Given the description of an element on the screen output the (x, y) to click on. 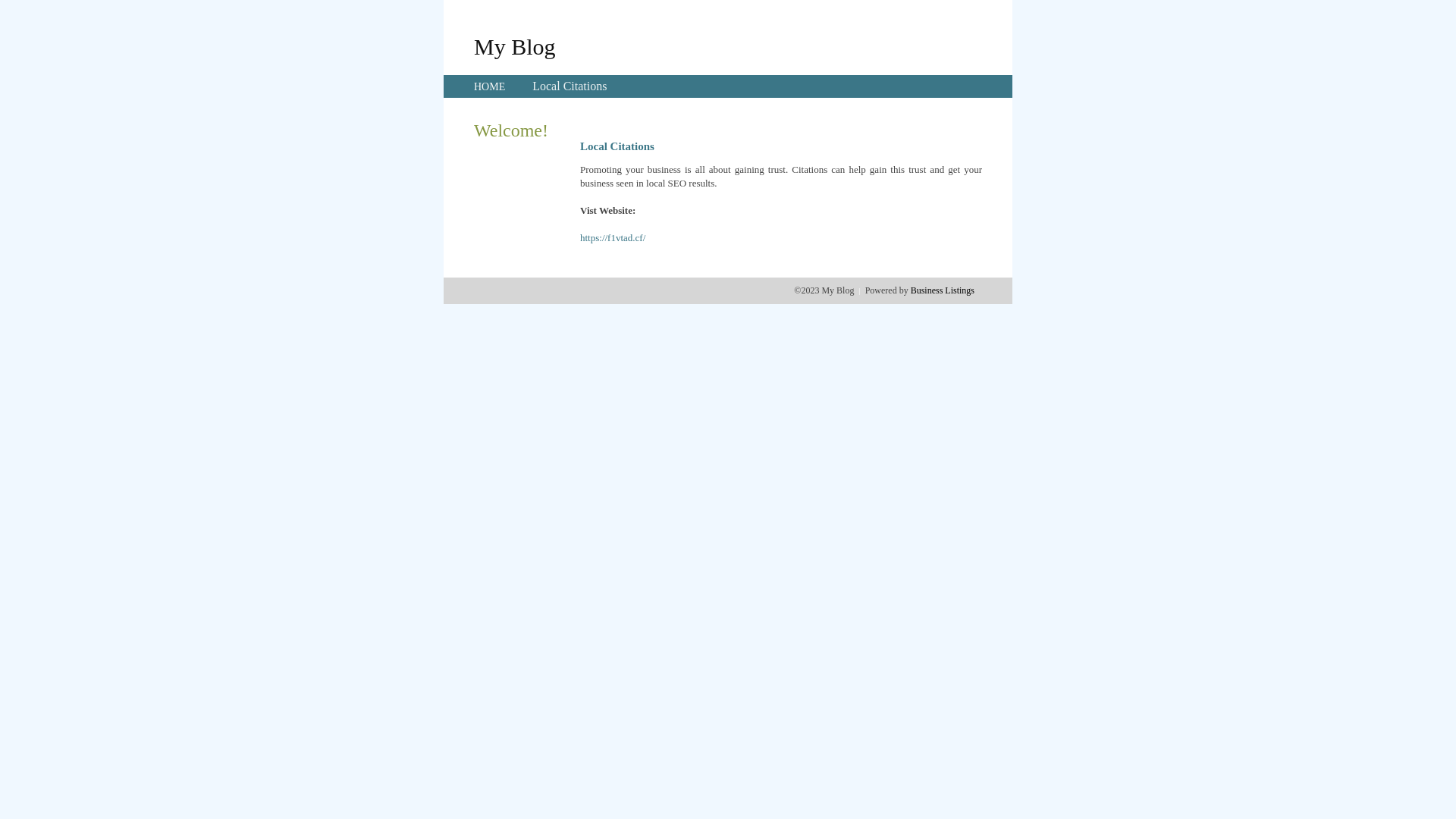
My Blog Element type: text (514, 46)
Local Citations Element type: text (569, 85)
HOME Element type: text (489, 86)
Business Listings Element type: text (942, 290)
https://f1vtad.cf/ Element type: text (612, 237)
